Given the description of an element on the screen output the (x, y) to click on. 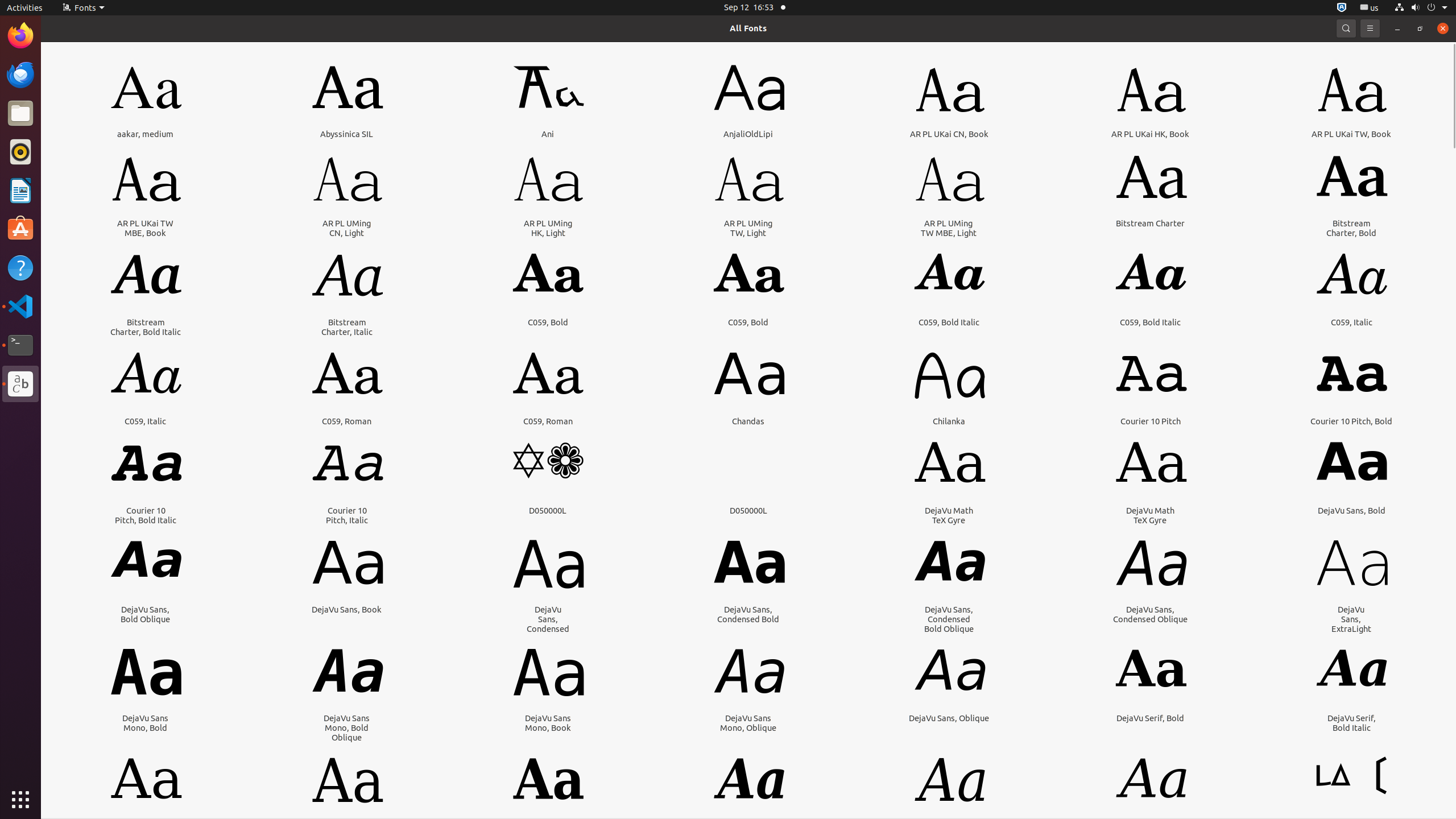
Courier 10 Pitch Element type: label (1150, 420)
DejaVu Sans Mono, Bold Element type: label (145, 722)
Courier 10 Pitch, Italic Element type: label (346, 514)
Courier 10 Pitch, Bold Italic Element type: label (145, 514)
DejaVu Sans, ExtraLight Element type: label (1351, 618)
